Given the description of an element on the screen output the (x, y) to click on. 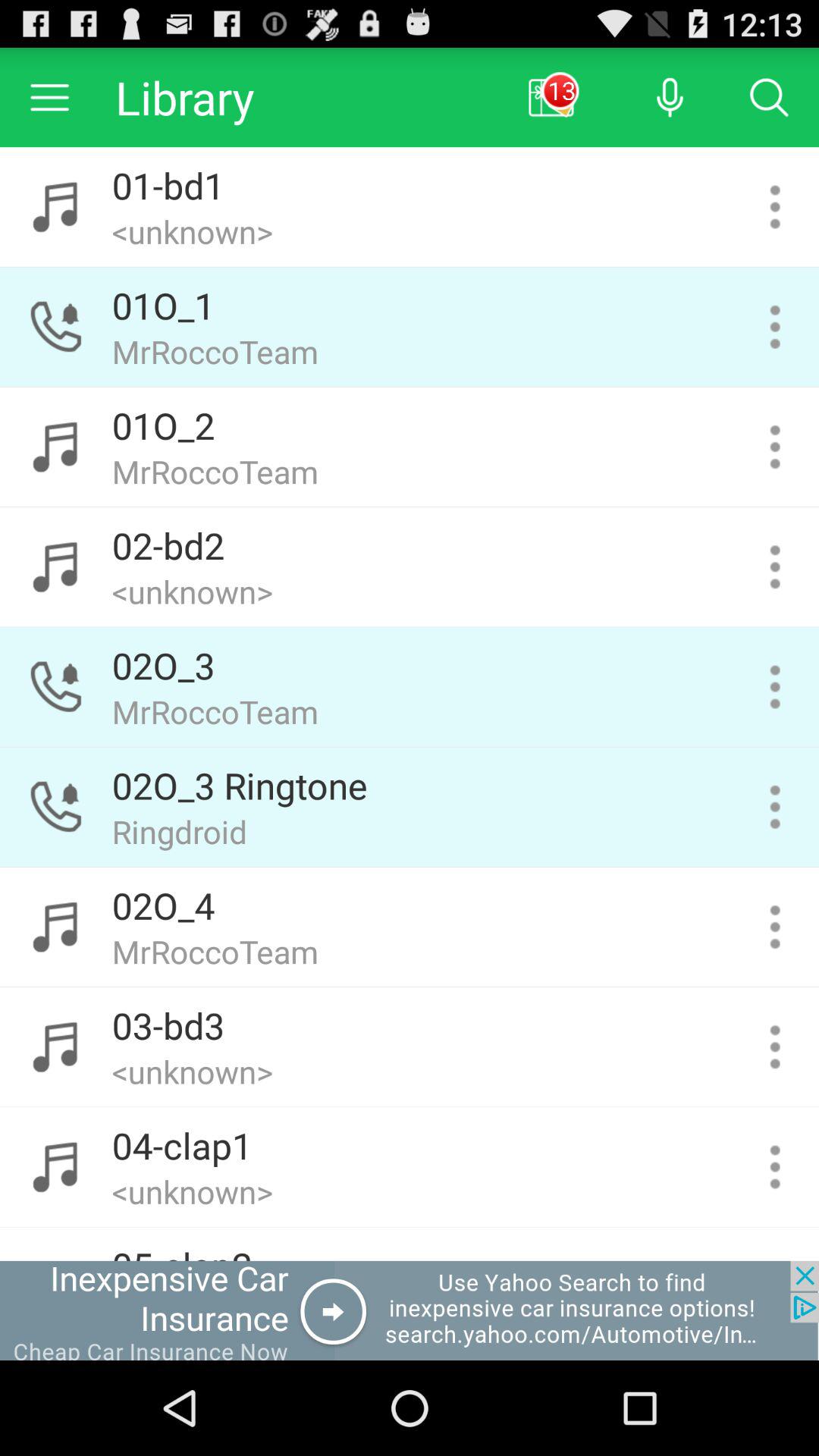
for setting (775, 566)
